Given the description of an element on the screen output the (x, y) to click on. 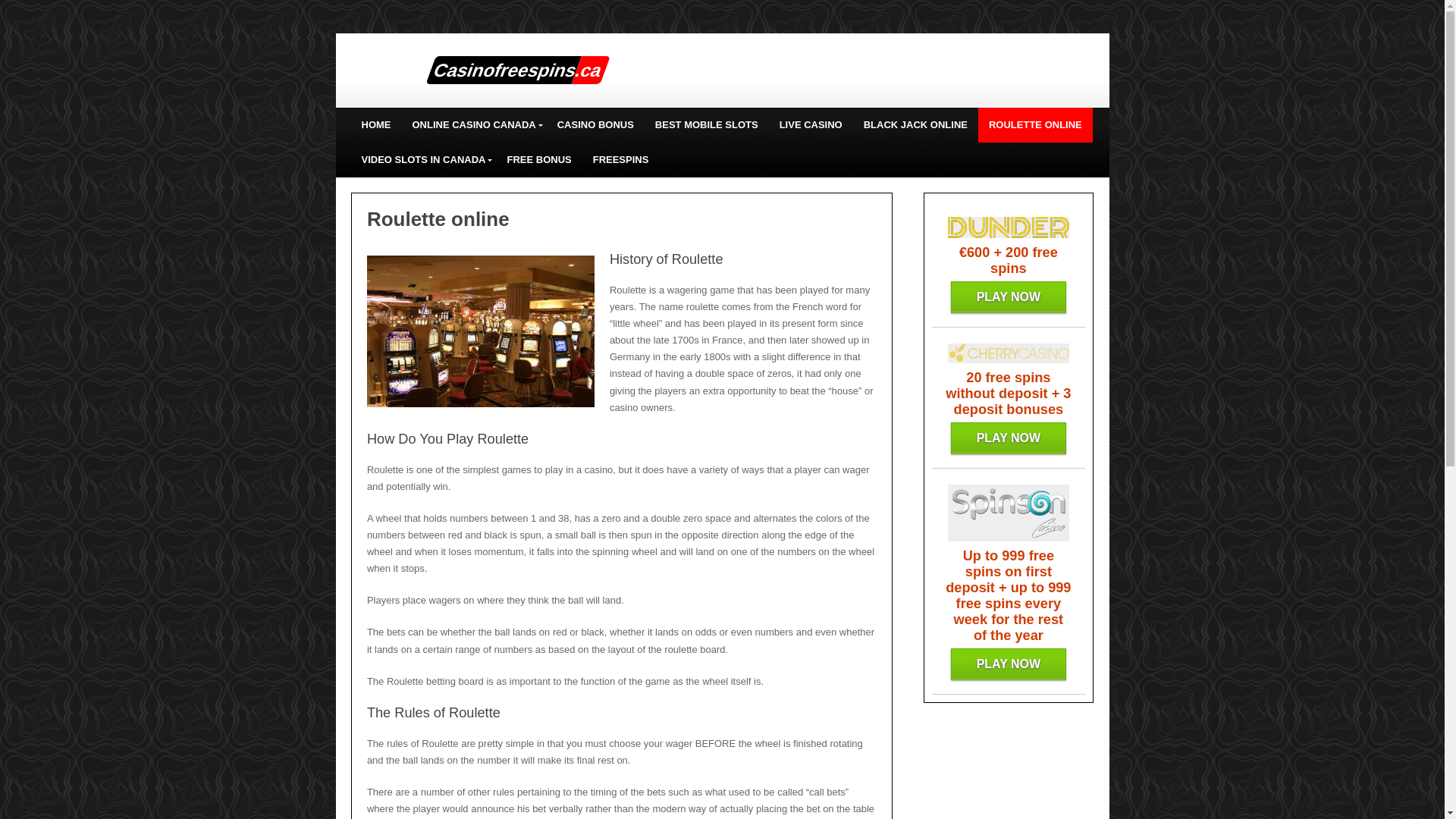
BEST MOBILE SLOTS (706, 124)
ROULETTE ONLINE (1035, 124)
Dunder (1007, 296)
CASINO BONUS (596, 124)
PLAY NOW (1007, 438)
FREESPINS (620, 159)
BLACK JACK ONLINE (915, 124)
VIDEO SLOTS IN CANADA (423, 159)
HOME (375, 124)
PLAY NOW (1007, 296)
LIVE CASINO (810, 124)
Casinofreespins.ca (512, 70)
spinson (1007, 664)
PLAY NOW (1007, 664)
Cherry Casino (1007, 438)
